Given the description of an element on the screen output the (x, y) to click on. 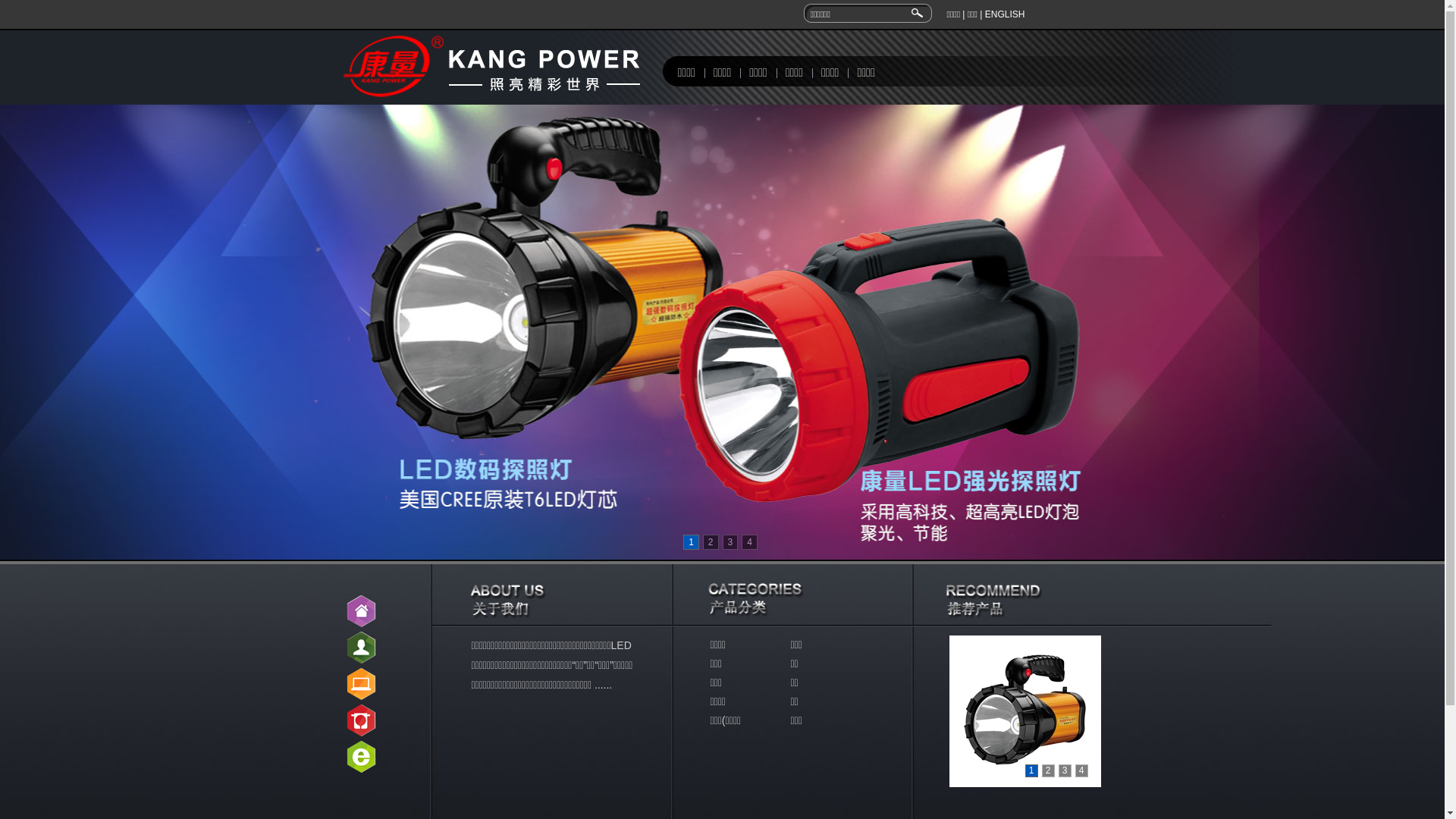
4 Element type: text (749, 541)
3 Element type: text (729, 541)
3 Element type: text (1064, 770)
1 Element type: text (691, 541)
4 Element type: text (1081, 770)
2 Element type: text (710, 541)
1 Element type: text (1031, 770)
ENGLISH Element type: text (1005, 14)
2 Element type: text (1047, 770)
